Given the description of an element on the screen output the (x, y) to click on. 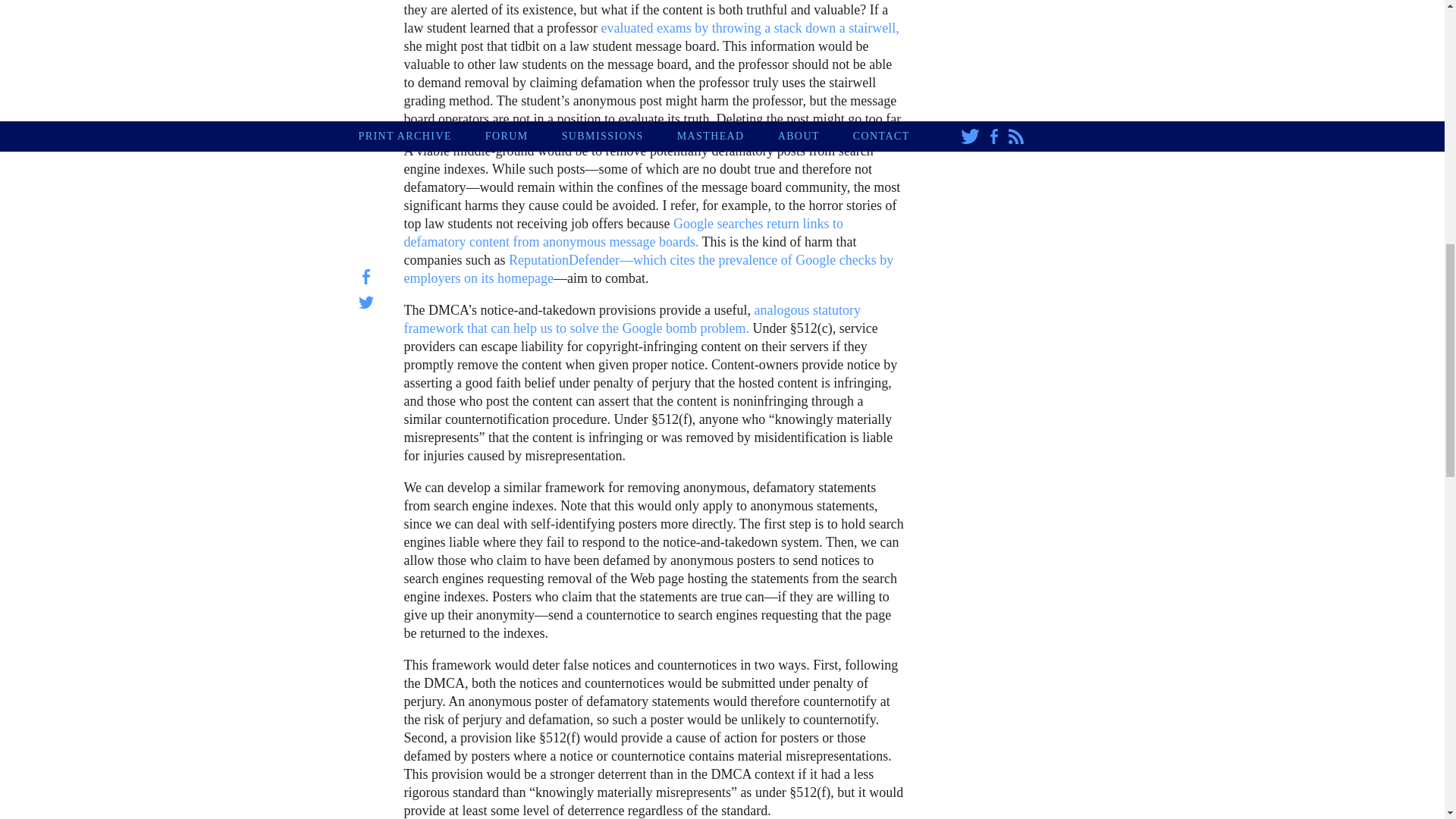
evaluated exams by throwing a stack down a stairwell, (748, 28)
